Given the description of an element on the screen output the (x, y) to click on. 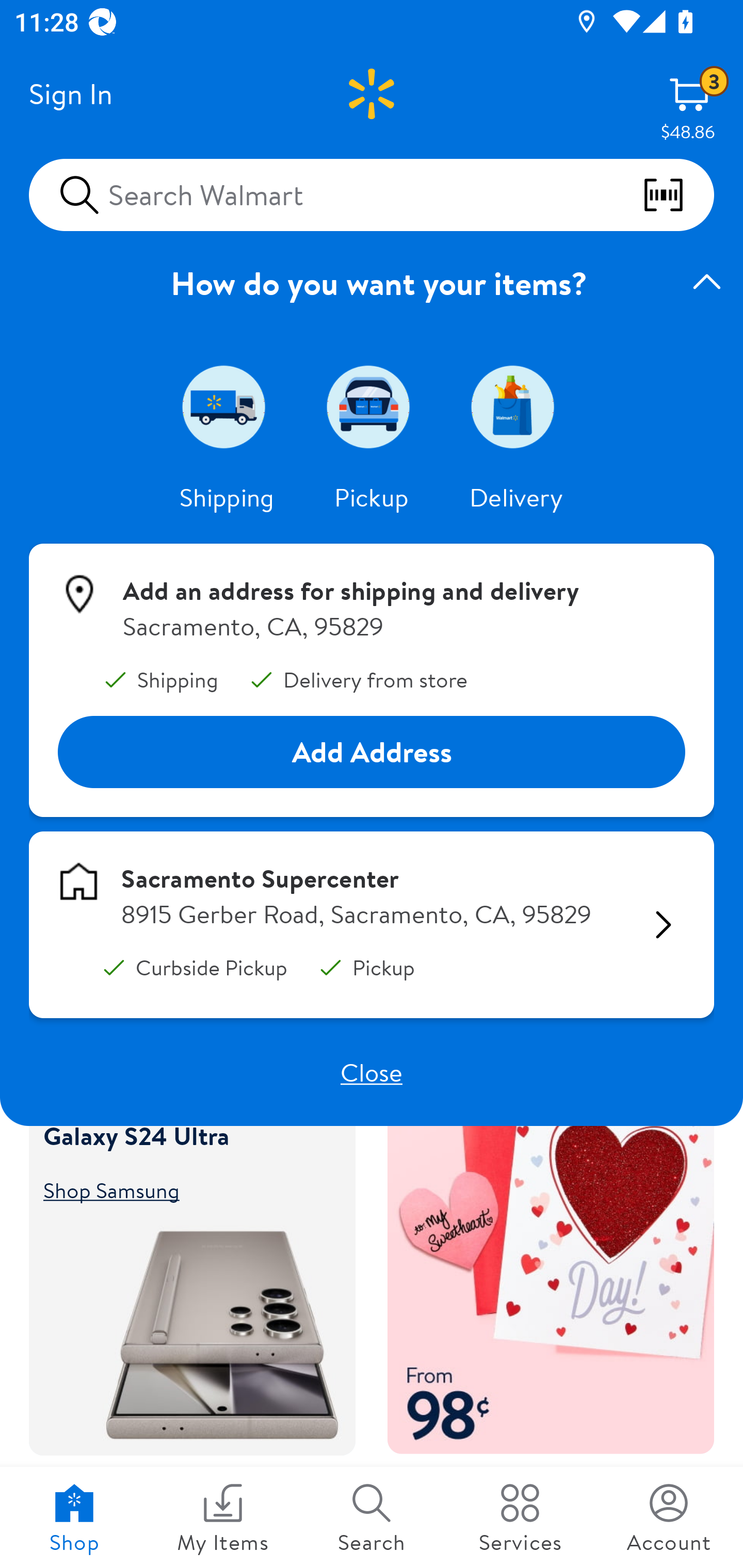
Sign In (70, 93)
Search Walmart scan barcodes qr codes and more (371, 194)
scan barcodes qr codes and more (677, 195)
How do you want your items? expanded (371, 282)
Shipping 1 of 3 (226, 406)
Pickup 2 of 3 (371, 406)
Delivery 3 of 3 (515, 406)
Add Address (371, 752)
Close (371, 1072)
Shop Samsung Shop Samsung Galaxy S24 Ultra (183, 1190)
My Items (222, 1517)
Search (371, 1517)
Services (519, 1517)
Account (668, 1517)
